Given the description of an element on the screen output the (x, y) to click on. 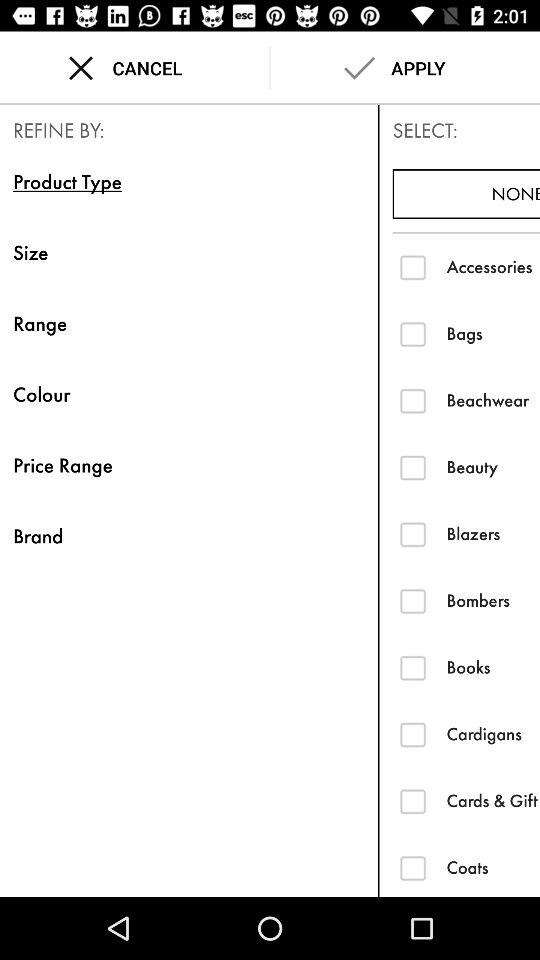
turn on item above cards & gift wrap item (493, 734)
